Given the description of an element on the screen output the (x, y) to click on. 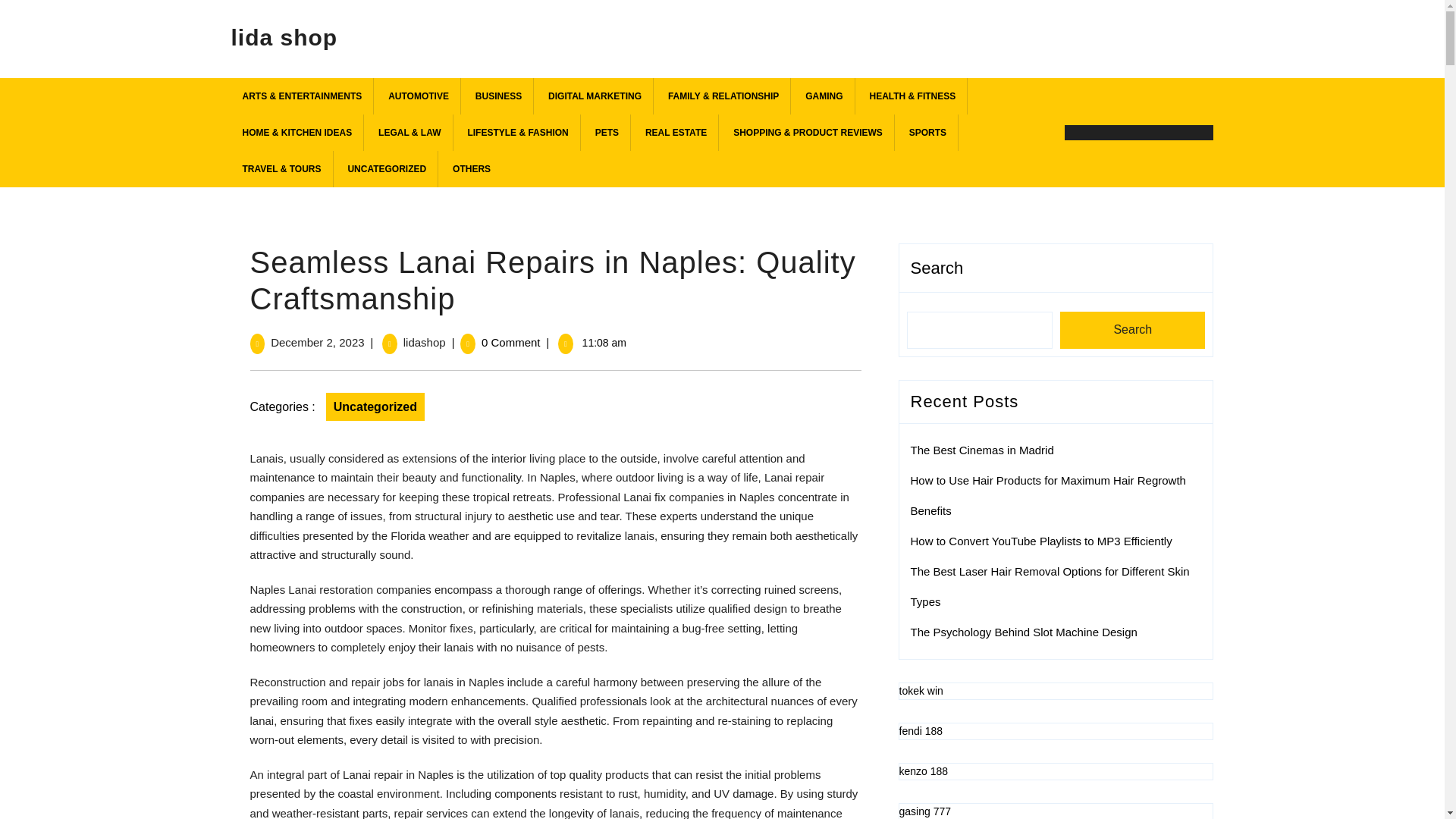
OTHERS (471, 168)
AUTOMOTIVE (419, 95)
BUSINESS (499, 95)
How to Use Hair Products for Maximum Hair Regrowth Benefits (1047, 495)
Search (1132, 330)
GAMING (823, 95)
DIGITAL MARKETING (595, 95)
Uncategorized (375, 406)
PETS (606, 132)
The Best Cinemas in Madrid (981, 449)
SPORTS (928, 132)
December 2, 2023 (317, 341)
How to Convert YouTube Playlists to MP3 Efficiently (1041, 540)
REAL ESTATE (676, 132)
lida shop (283, 33)
